Given the description of an element on the screen output the (x, y) to click on. 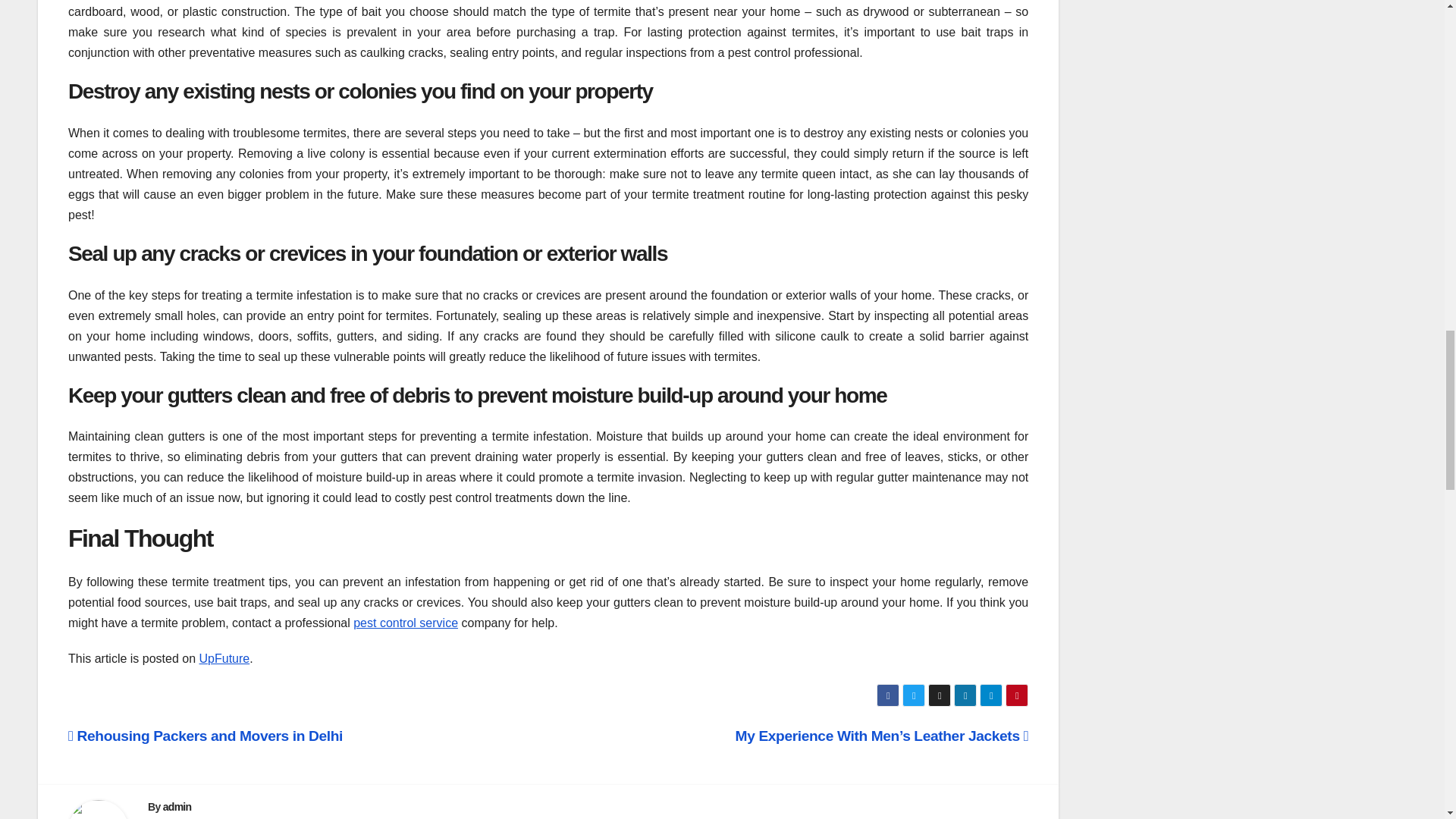
Rehousing Packers and Movers in Delhi (205, 735)
admin (177, 806)
UpFuture (224, 658)
pest control service (405, 622)
